Given the description of an element on the screen output the (x, y) to click on. 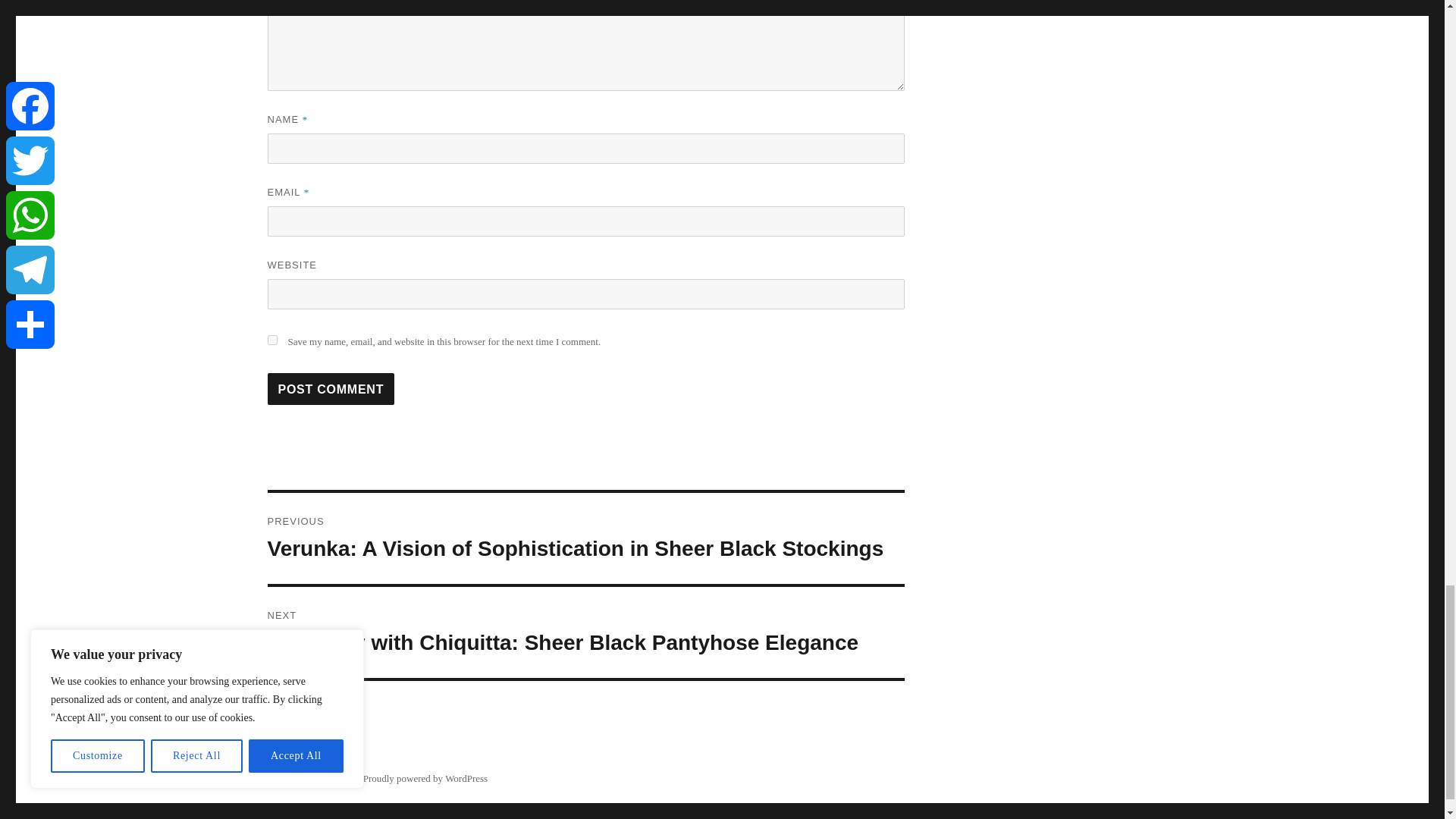
Post Comment (330, 388)
yes (271, 339)
Post Comment (330, 388)
